Given the description of an element on the screen output the (x, y) to click on. 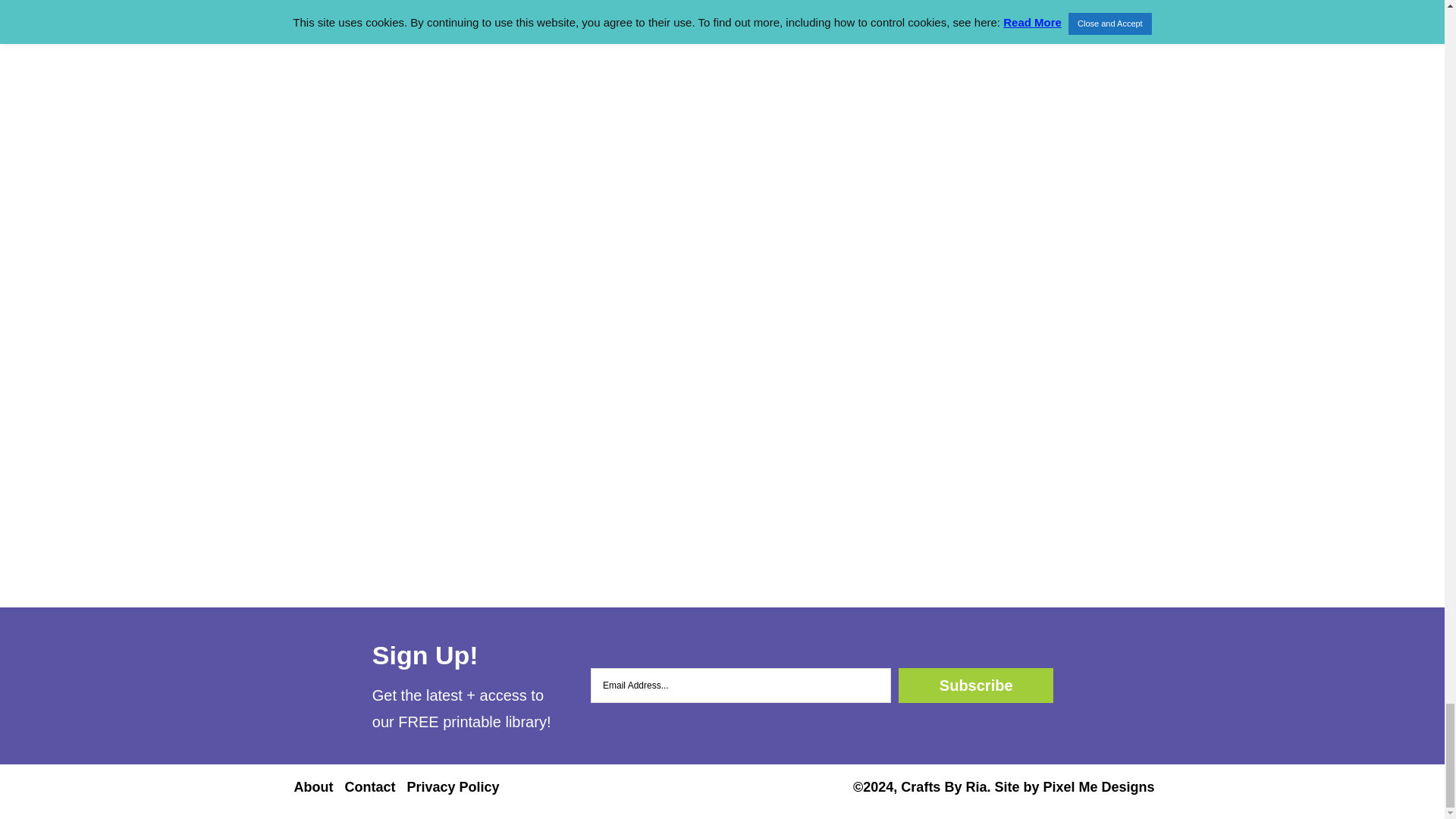
Subscribe (975, 685)
